Given the description of an element on the screen output the (x, y) to click on. 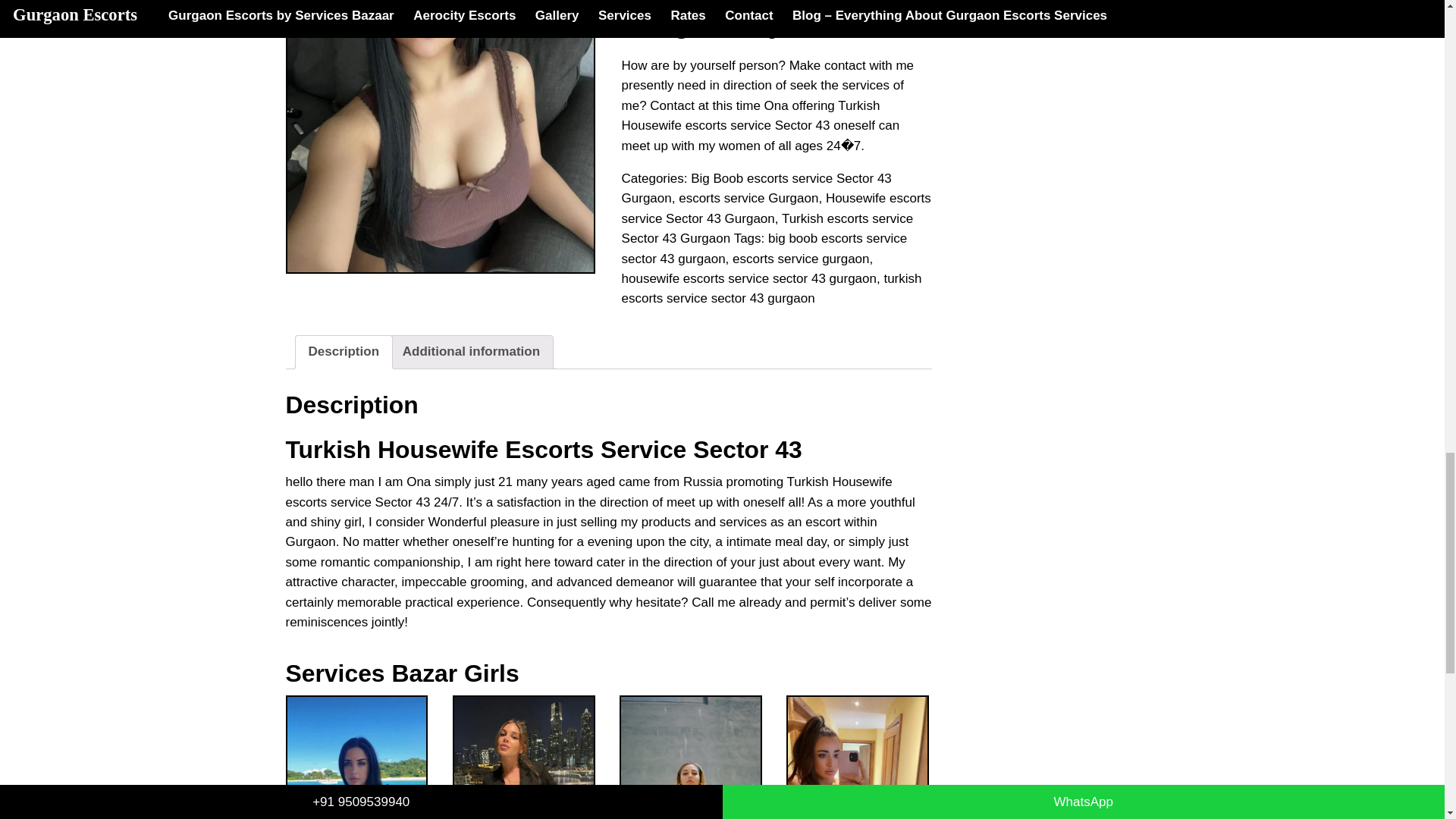
Big Boob escorts service Sector 43 Gurgaon (756, 188)
ona (440, 136)
